Given the description of an element on the screen output the (x, y) to click on. 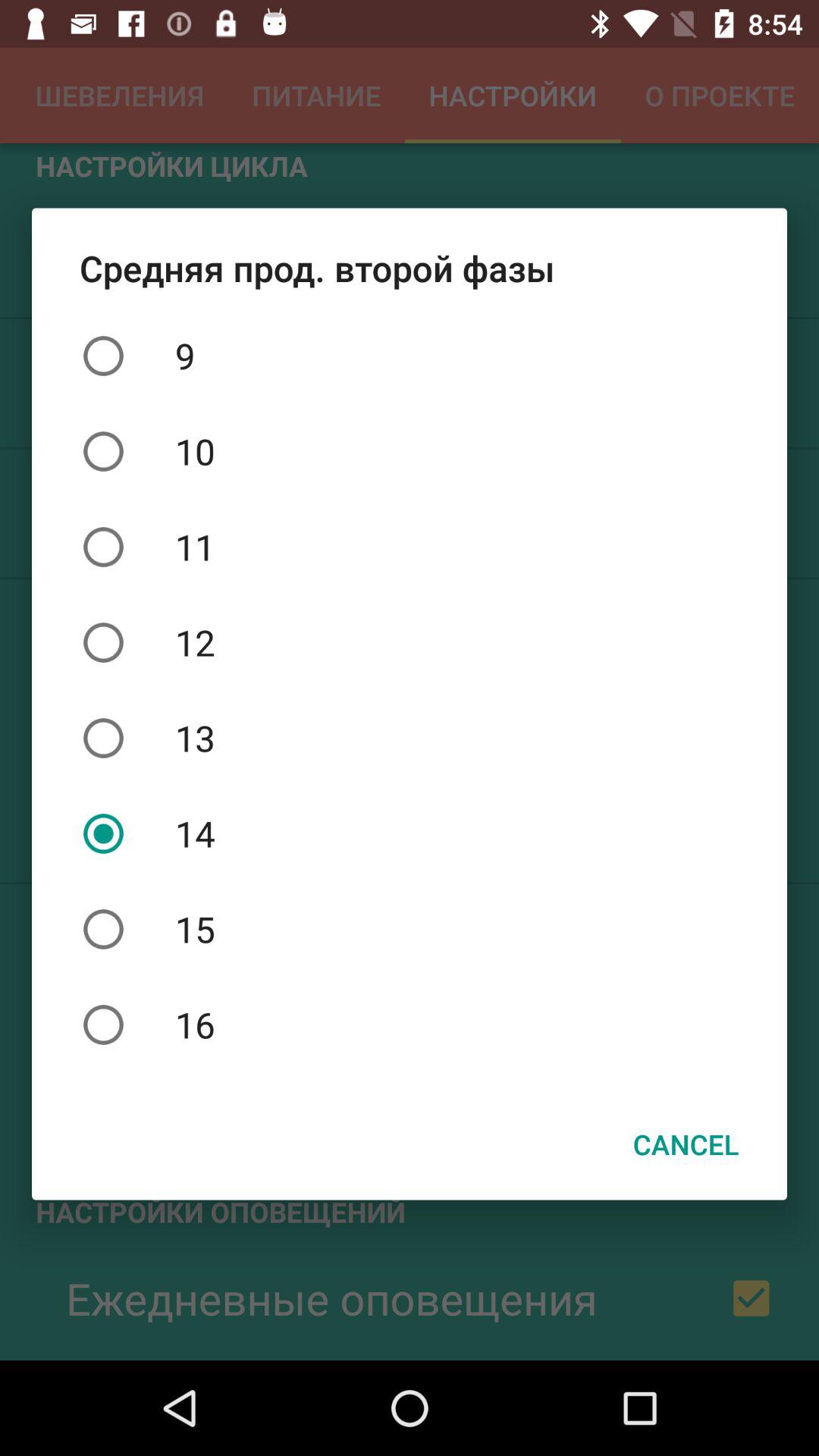
turn on the item above the cancel icon (409, 1024)
